Given the description of an element on the screen output the (x, y) to click on. 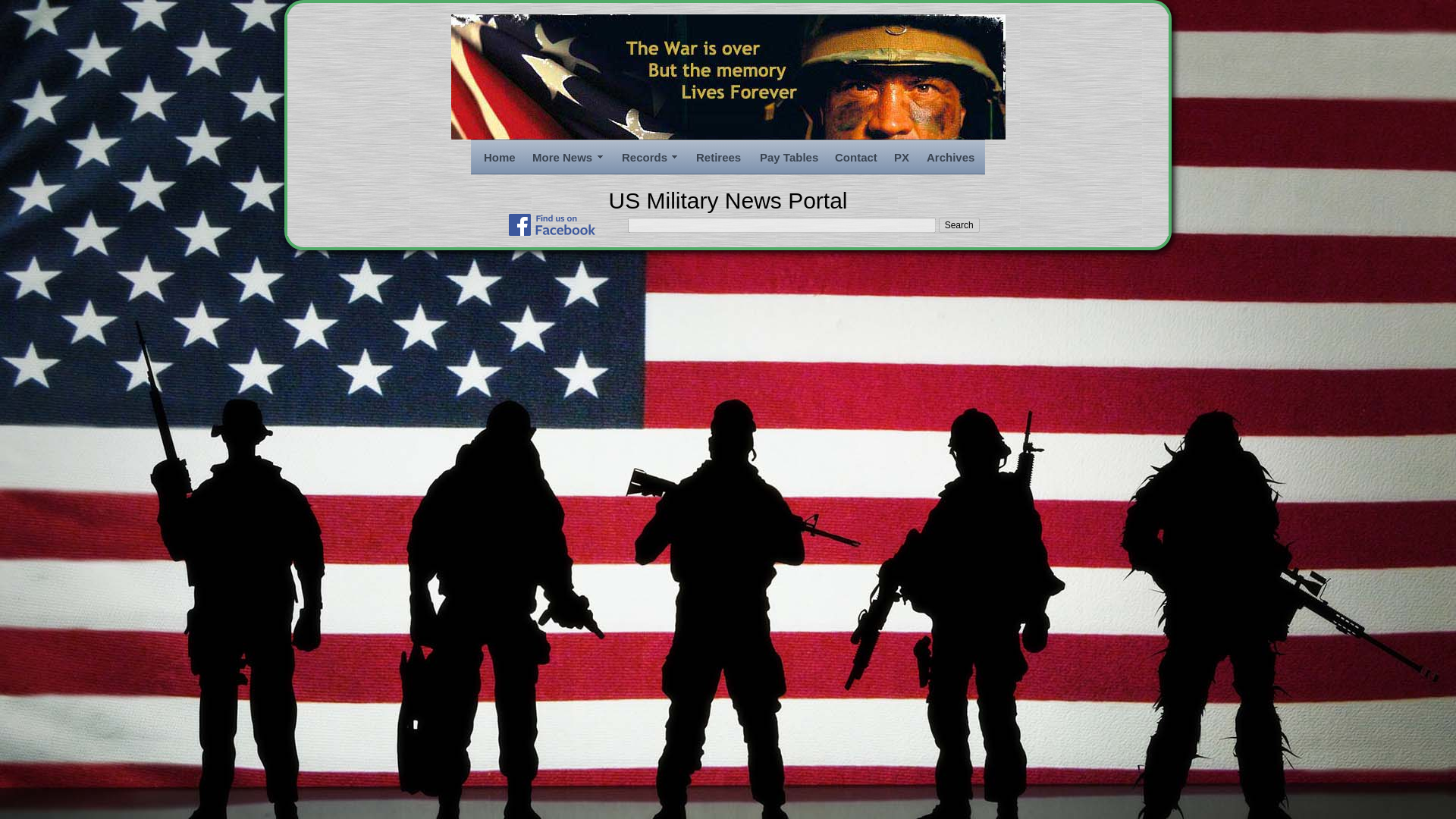
PX (901, 157)
Contact (854, 157)
More News (566, 157)
Home (498, 157)
Search (959, 224)
Pay Tables (788, 157)
Retirees (718, 157)
Archives (949, 157)
Records (648, 157)
